Given the description of an element on the screen output the (x, y) to click on. 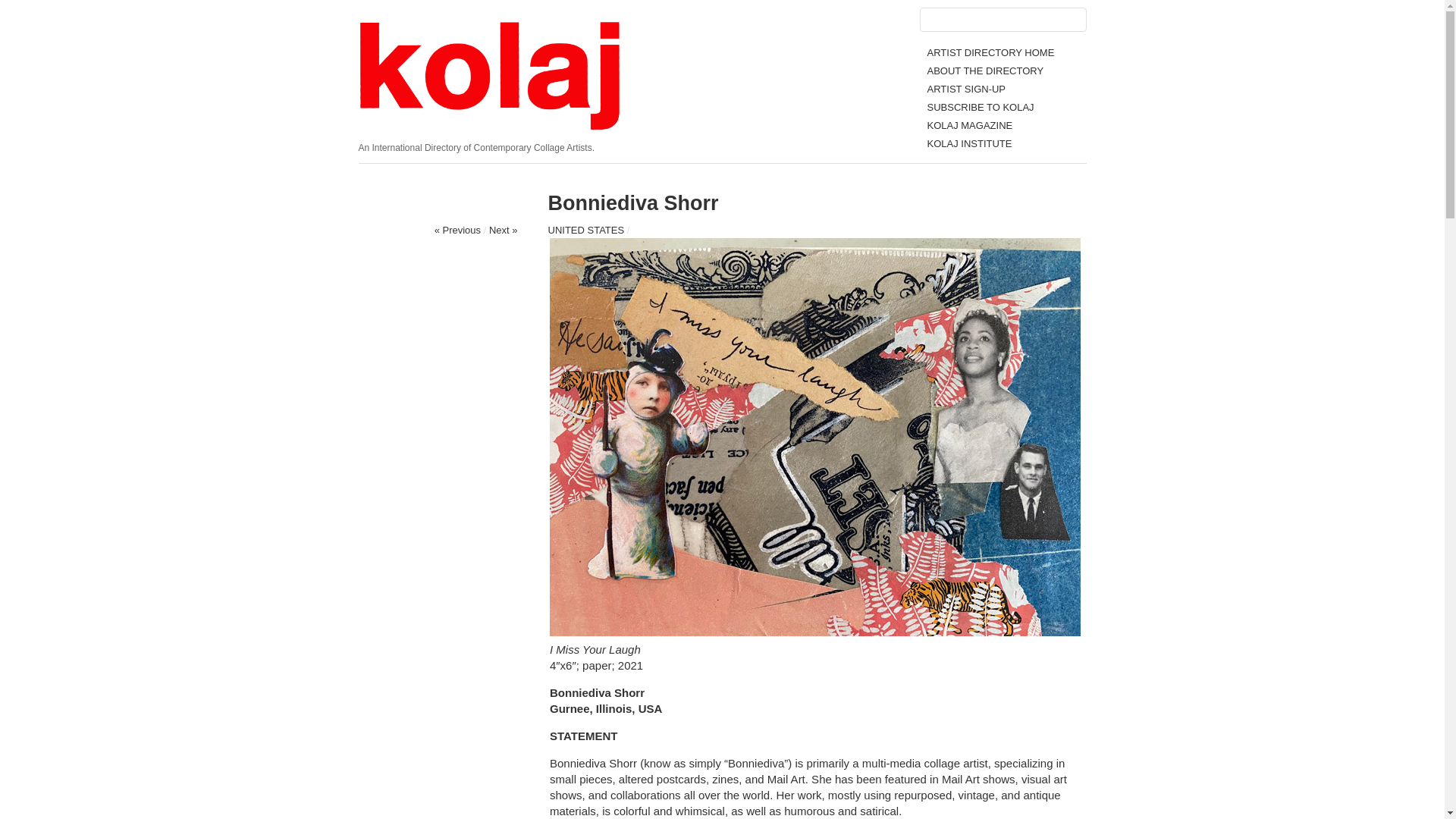
ABOUT THE DIRECTORY (984, 70)
SUBSCRIBE TO KOLAJ (979, 107)
UNITED STATES (585, 229)
ARTIST SIGN-UP (966, 89)
KOLAJ INSTITUTE (968, 143)
KOLAJ MAGAZINE (968, 125)
Search (19, 8)
ARTIST DIRECTORY HOME (990, 52)
